Given the description of an element on the screen output the (x, y) to click on. 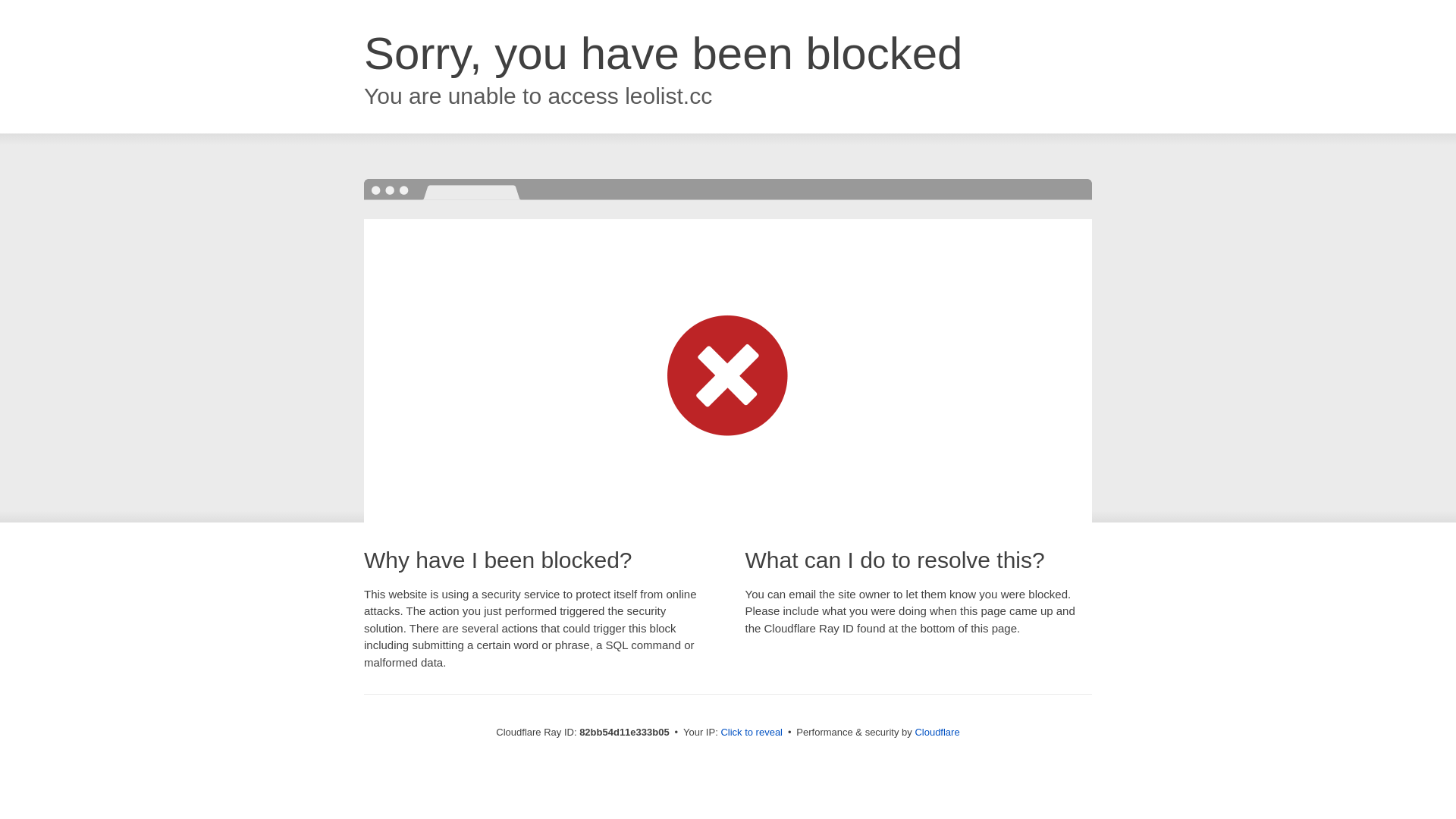
Click to reveal Element type: text (751, 732)
Cloudflare Element type: text (936, 731)
